Given the description of an element on the screen output the (x, y) to click on. 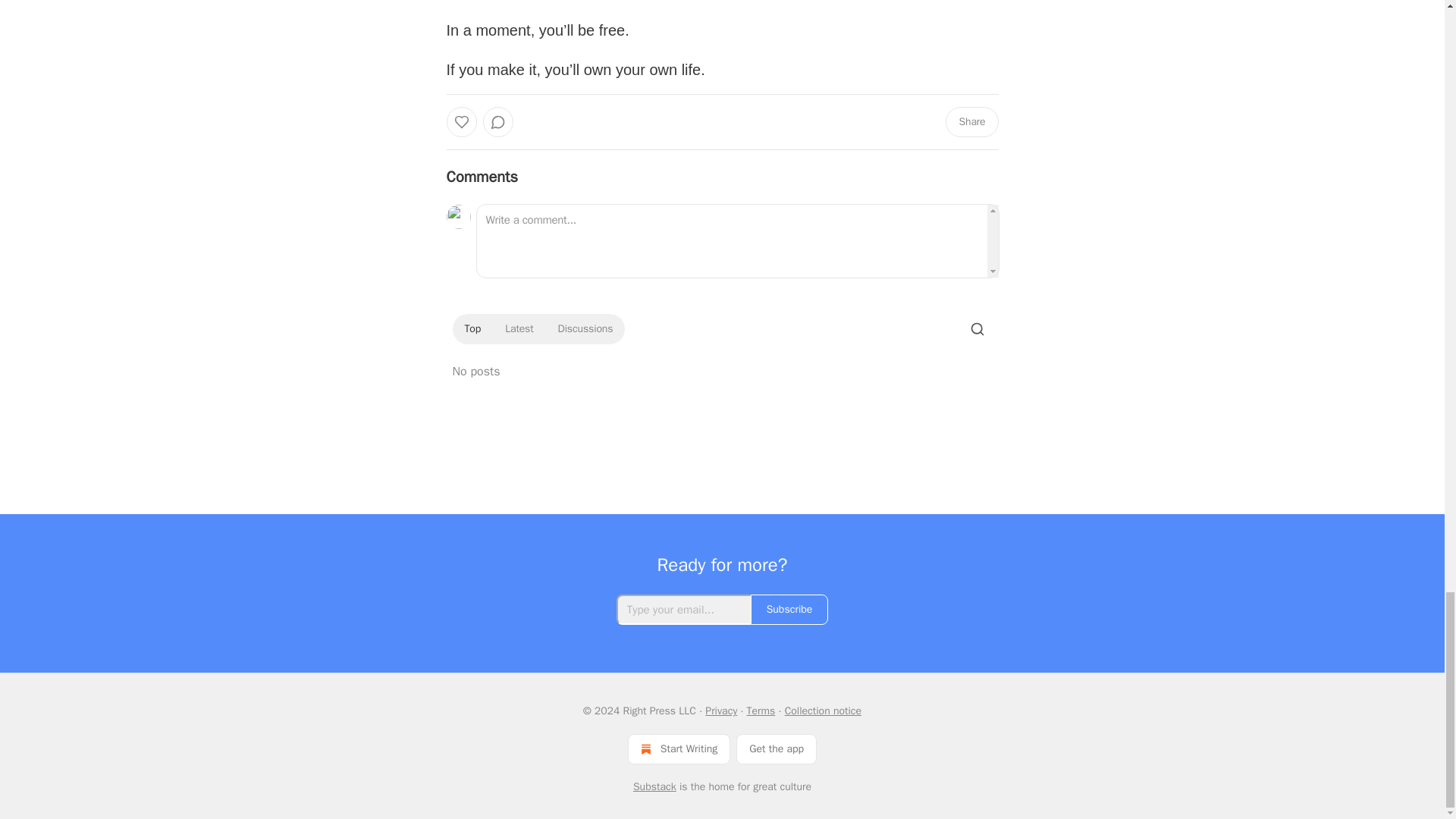
Privacy (720, 710)
Latest (518, 328)
Top (471, 328)
Share (970, 122)
Terms (761, 710)
Discussions (585, 328)
Subscribe (789, 609)
